Given the description of an element on the screen output the (x, y) to click on. 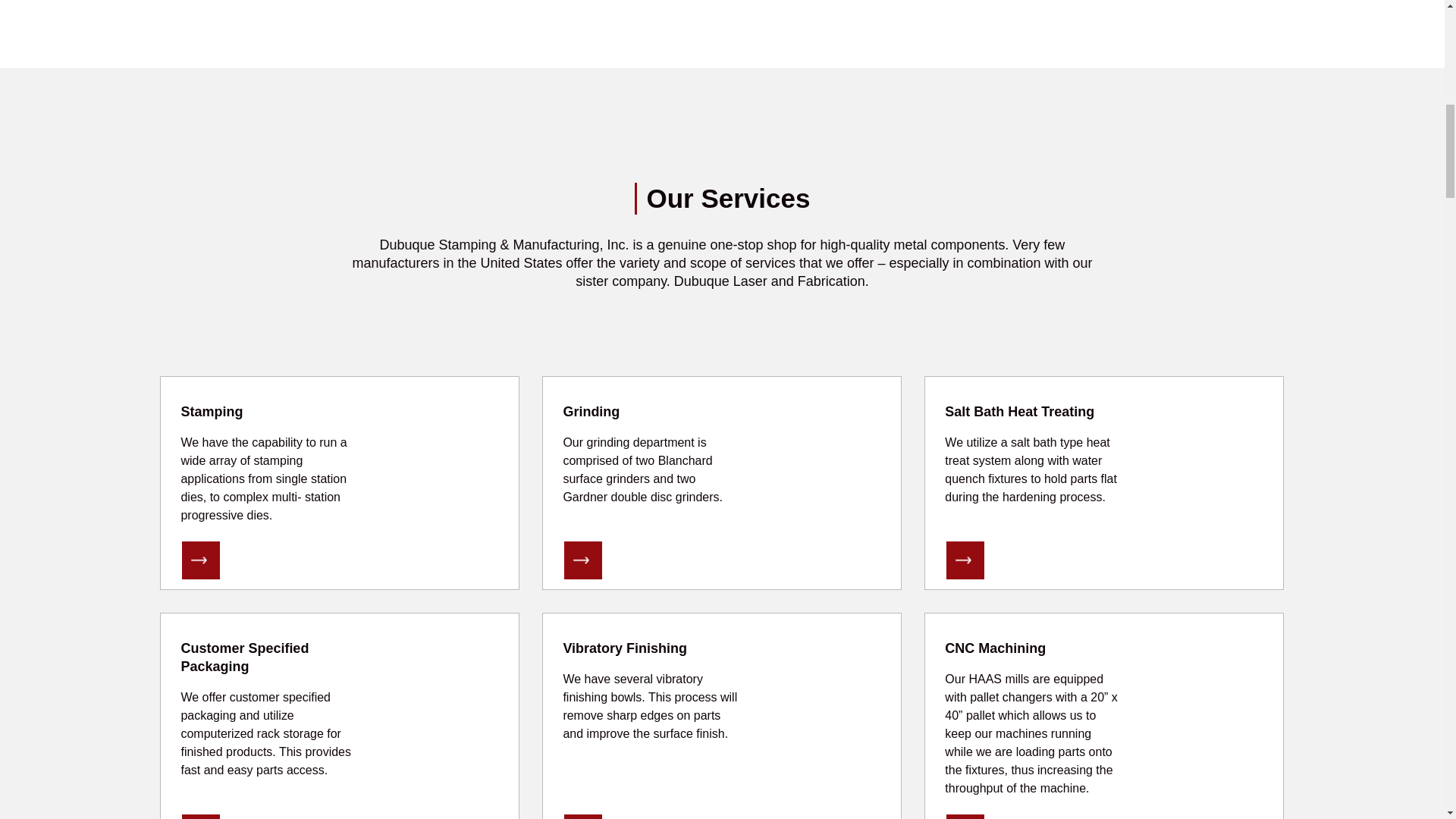
Permalink to Vibratory Finishing (624, 648)
Grinding (828, 481)
Permalink to Customer Specified Packaging (244, 657)
Salt Bath Heat Treating (965, 560)
Salt Bath Heat Treating (1019, 411)
Grinding (583, 560)
Stamping (200, 560)
Vibratory Finishing (583, 816)
Permalink to Grinding (591, 411)
Stamping (211, 411)
